Given the description of an element on the screen output the (x, y) to click on. 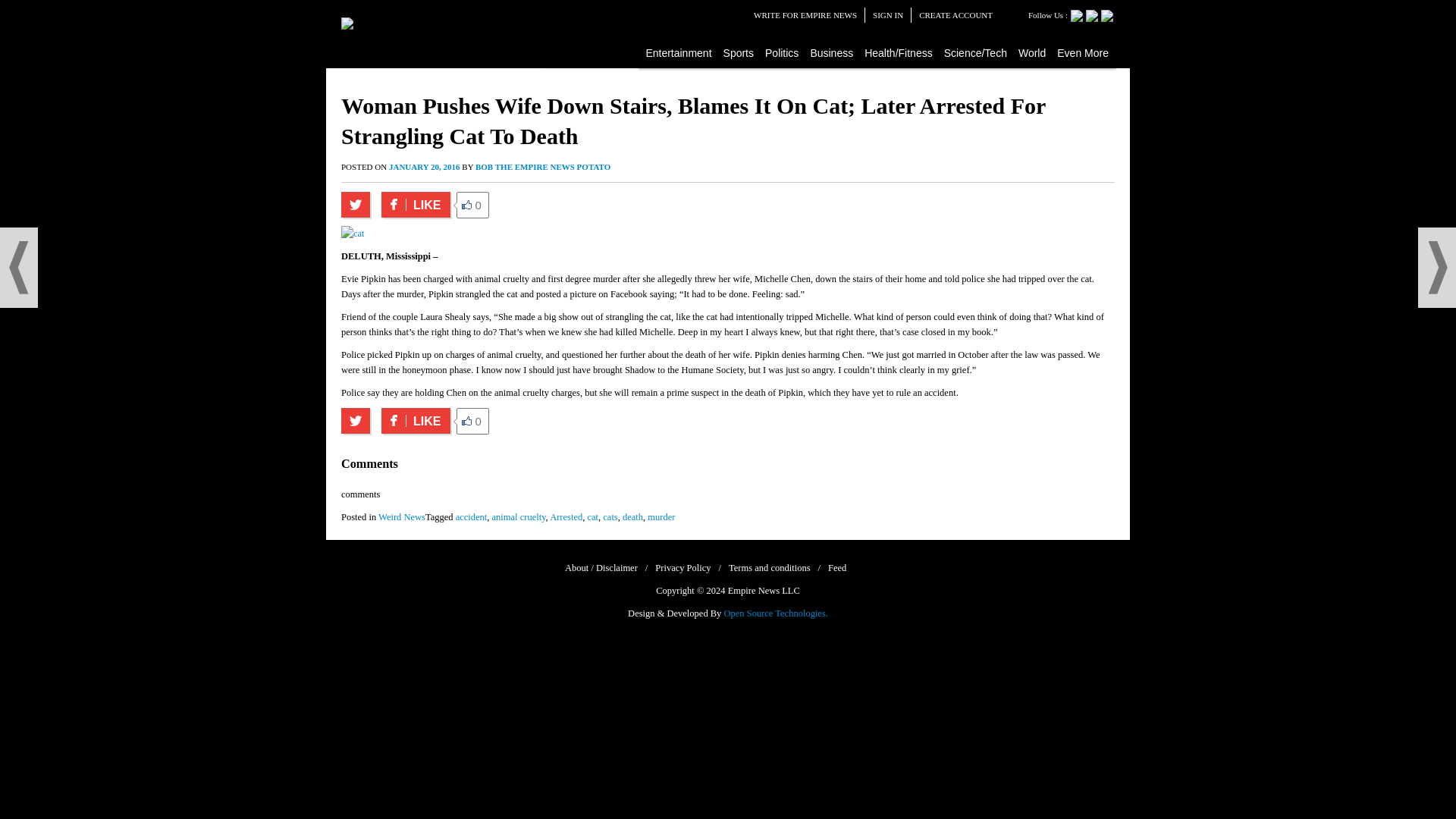
World (1032, 52)
WRITE FOR EMPIRE NEWS (805, 14)
Business (832, 52)
Politics (782, 52)
SIGN IN (887, 14)
Entertainment (678, 52)
CREATE ACCOUNT (955, 14)
Sports (738, 52)
